Given the description of an element on the screen output the (x, y) to click on. 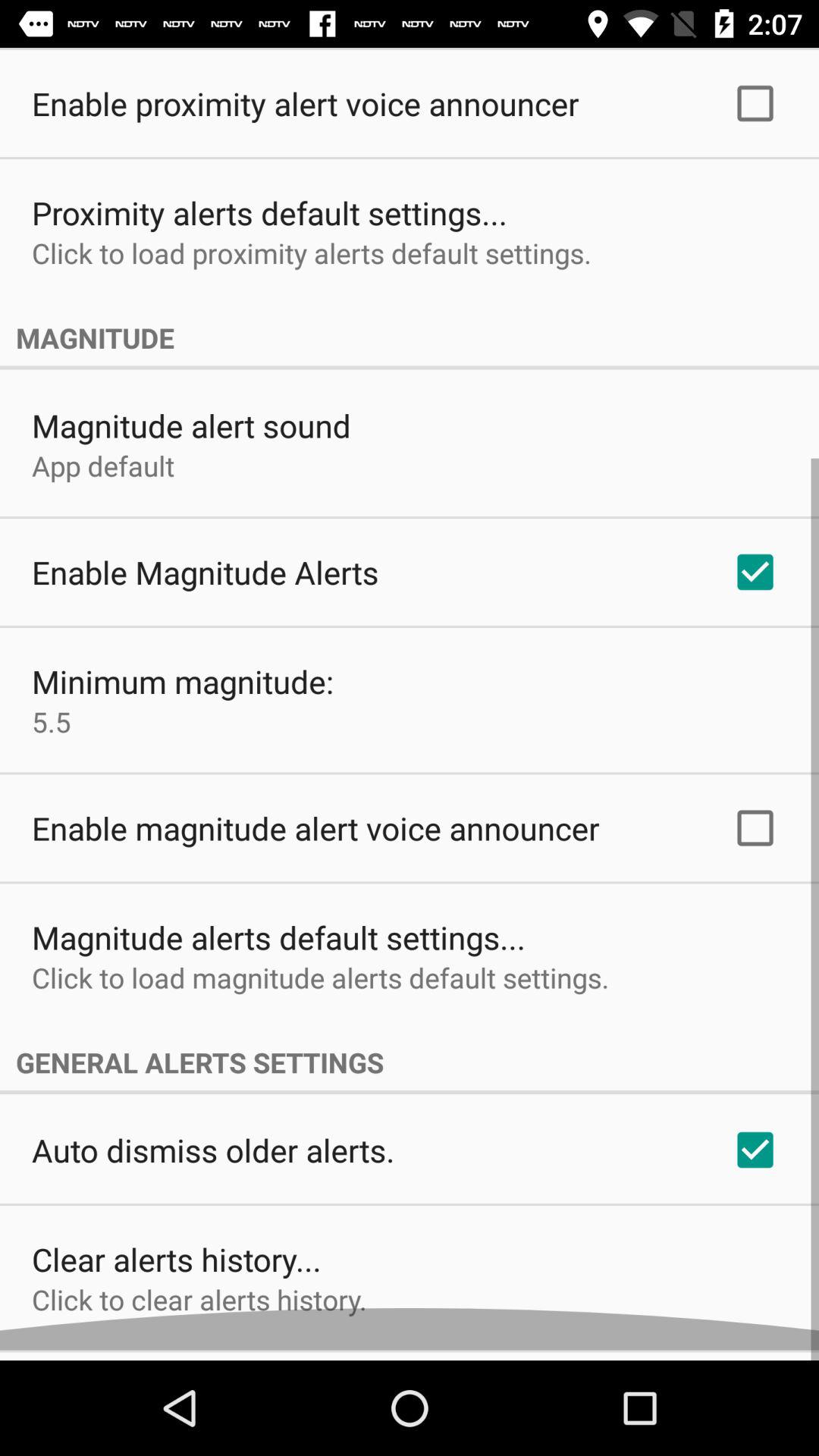
flip to minimum magnitude: item (182, 691)
